Given the description of an element on the screen output the (x, y) to click on. 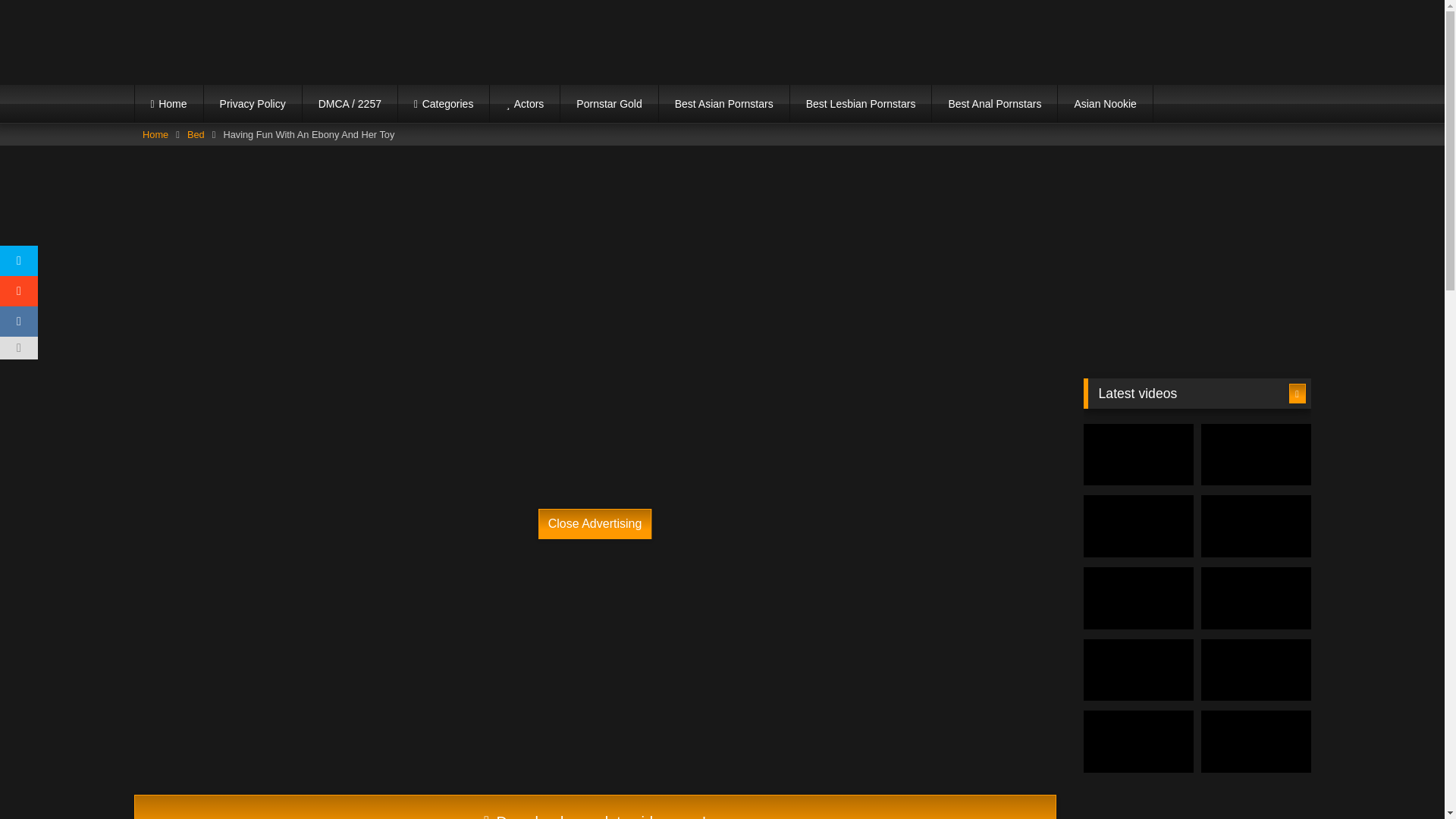
Close Advertising (595, 523)
Best Anal Pornstars (994, 103)
Having Fun With An Ebony And Her Toy (594, 806)
Asian Nookie (1105, 103)
Best Asian Pornstars (724, 103)
Download complete video now! (594, 806)
Actors (524, 103)
Mature Women are waiting for You! (480, 413)
Privacy Policy (252, 103)
